Given the description of an element on the screen output the (x, y) to click on. 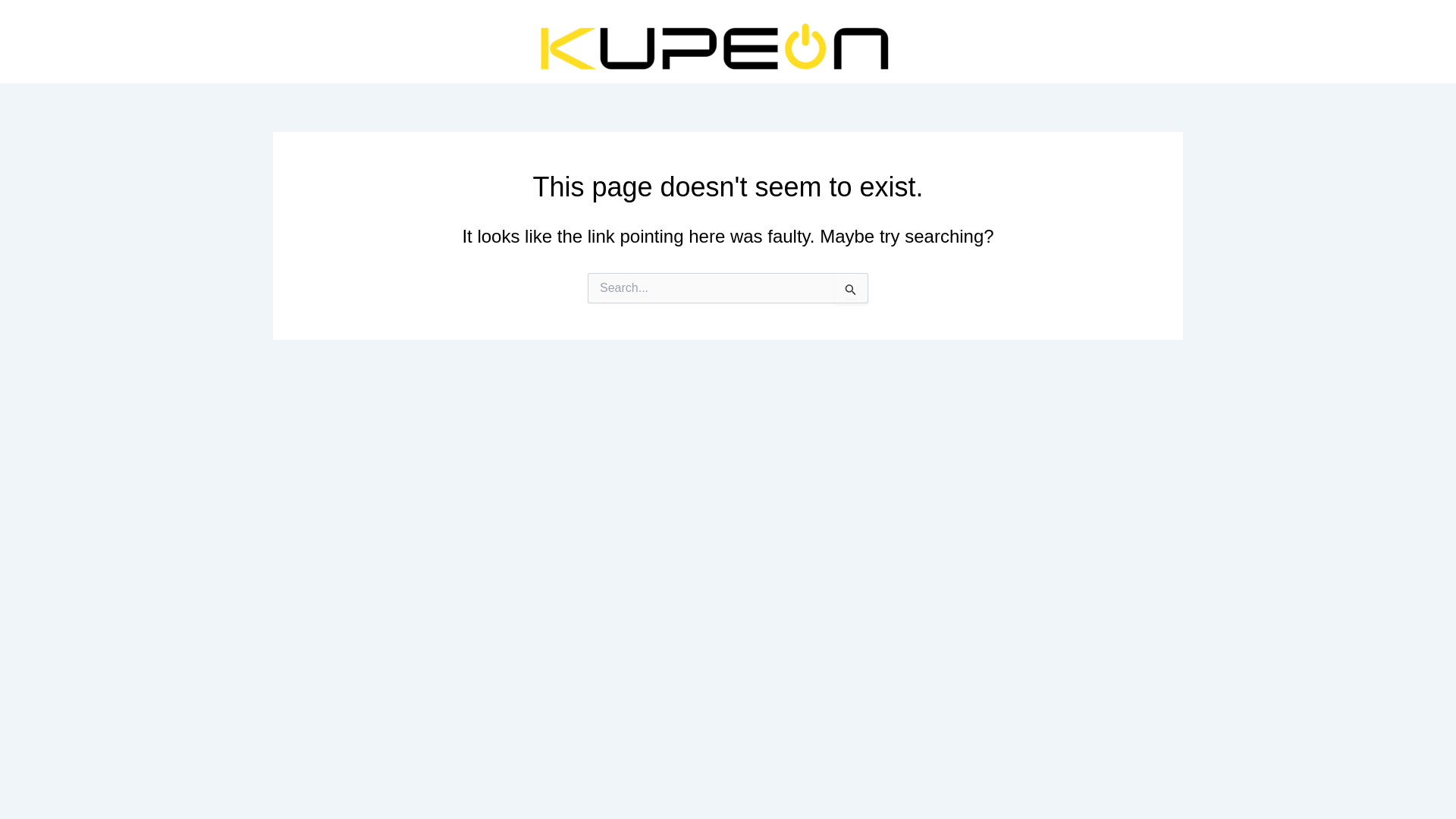
Search (850, 288)
Search (850, 288)
Search (850, 288)
